Given the description of an element on the screen output the (x, y) to click on. 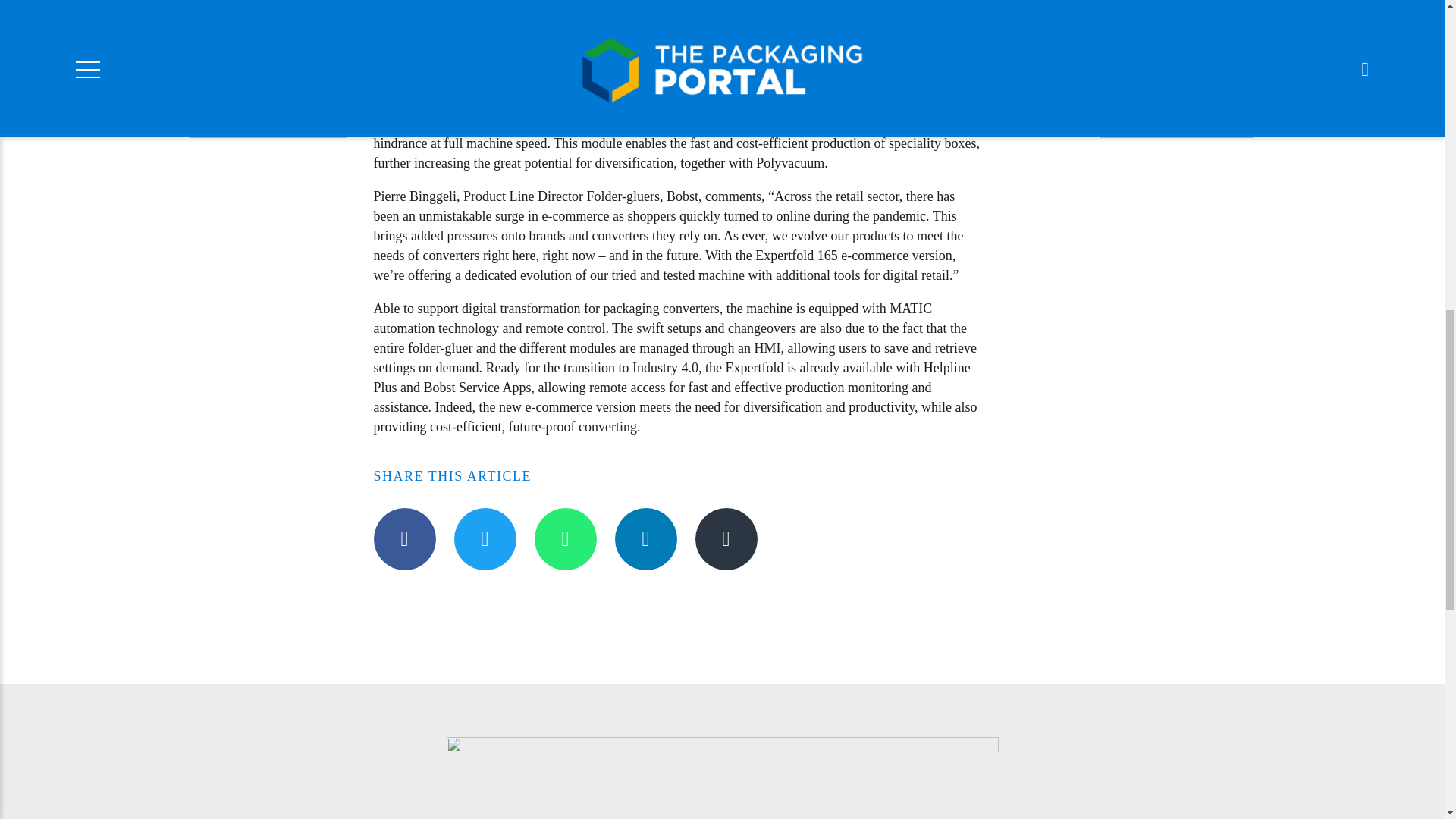
Share on Whatsapp (564, 538)
Send link to friend (725, 538)
Share on Facebook (403, 538)
Share on Twitter (483, 538)
Share on LinkedIn (645, 538)
